Given the description of an element on the screen output the (x, y) to click on. 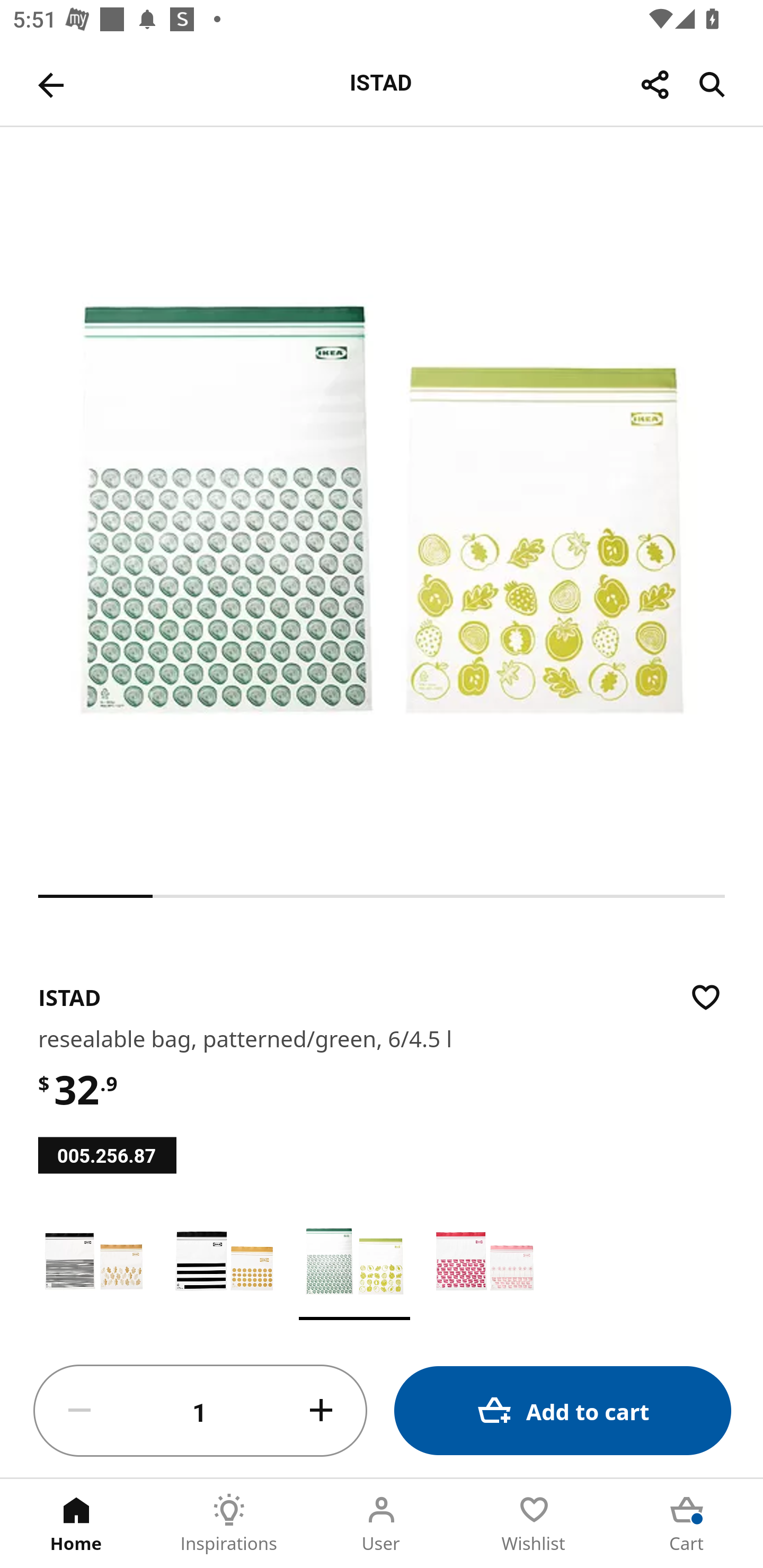
Add to cart (562, 1410)
1 (200, 1411)
Home
Tab 1 of 5 (76, 1522)
Inspirations
Tab 2 of 5 (228, 1522)
User
Tab 3 of 5 (381, 1522)
Wishlist
Tab 4 of 5 (533, 1522)
Cart
Tab 5 of 5 (686, 1522)
